Given the description of an element on the screen output the (x, y) to click on. 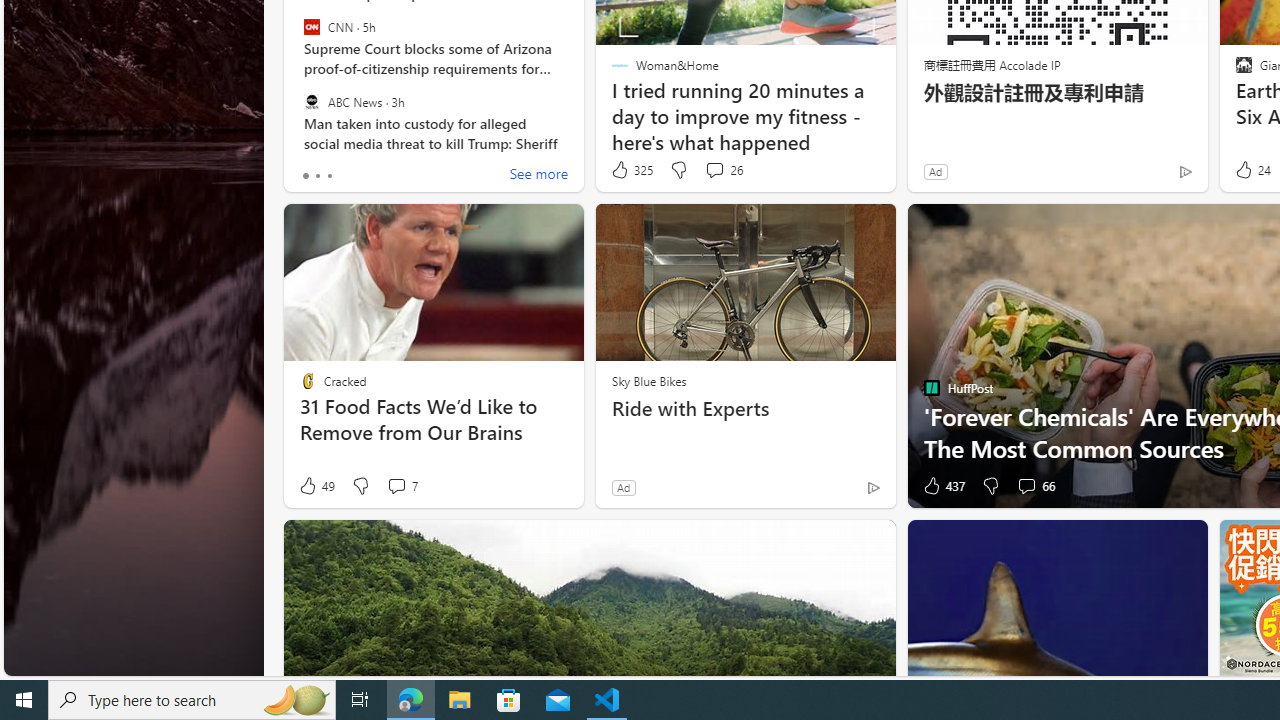
49 Like (316, 485)
325 Like (630, 170)
Ride with Experts (745, 408)
View comments 26 Comment (723, 170)
437 Like (942, 485)
View comments 66 Comment (1026, 485)
View comments 7 Comment (396, 485)
